Given the description of an element on the screen output the (x, y) to click on. 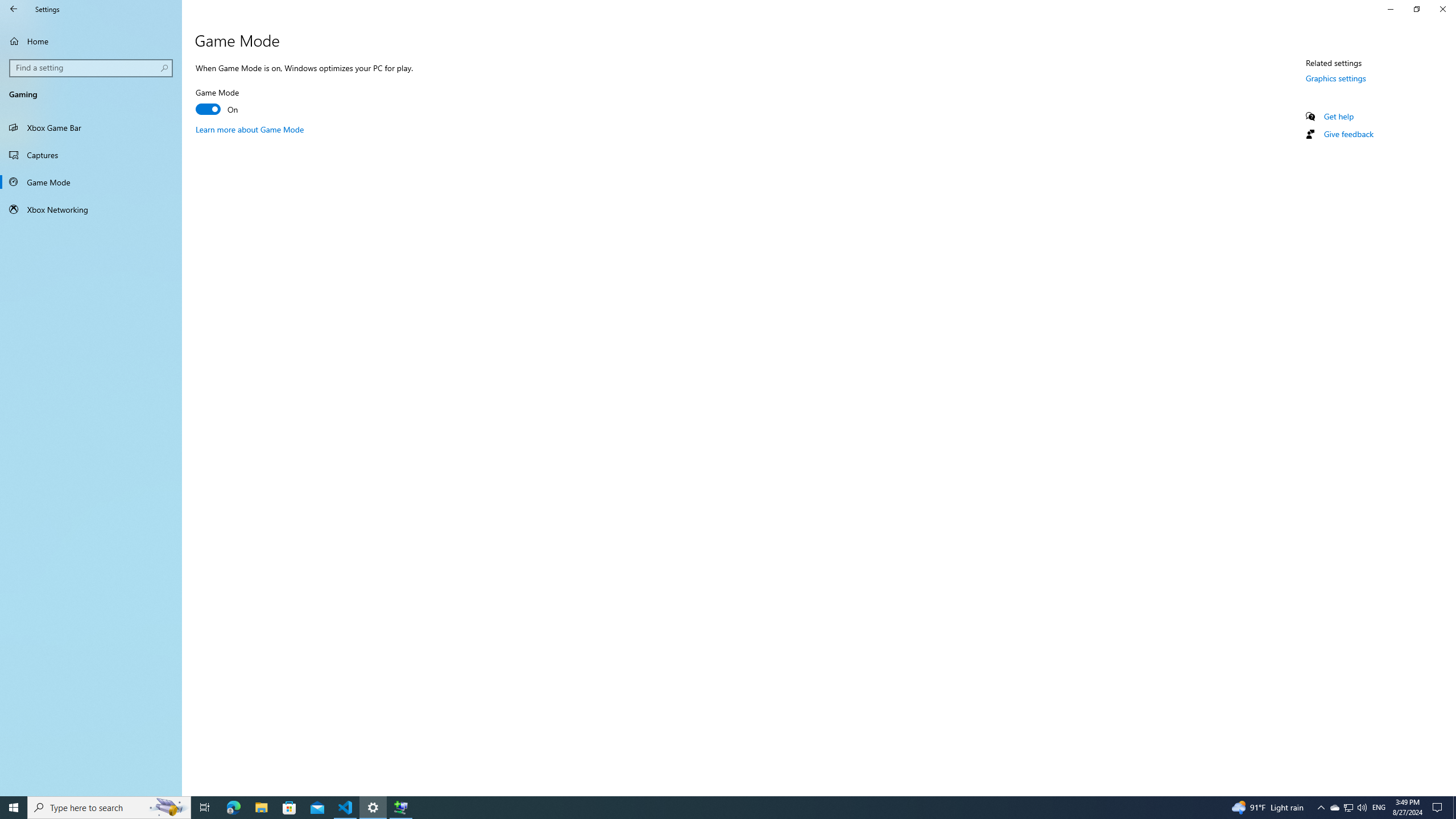
Settings - 1 running window (1347, 807)
Give feedback (373, 807)
Q2790: 100% (1348, 133)
Notification Chevron (1361, 807)
Xbox Game Bar (1320, 807)
Close Settings (91, 126)
Game Mode (1442, 9)
Game Mode (237, 101)
Learn more about Game Mode (91, 181)
Back (249, 129)
Xbox Networking (1333, 807)
Minimize Settings (13, 9)
